Given the description of an element on the screen output the (x, y) to click on. 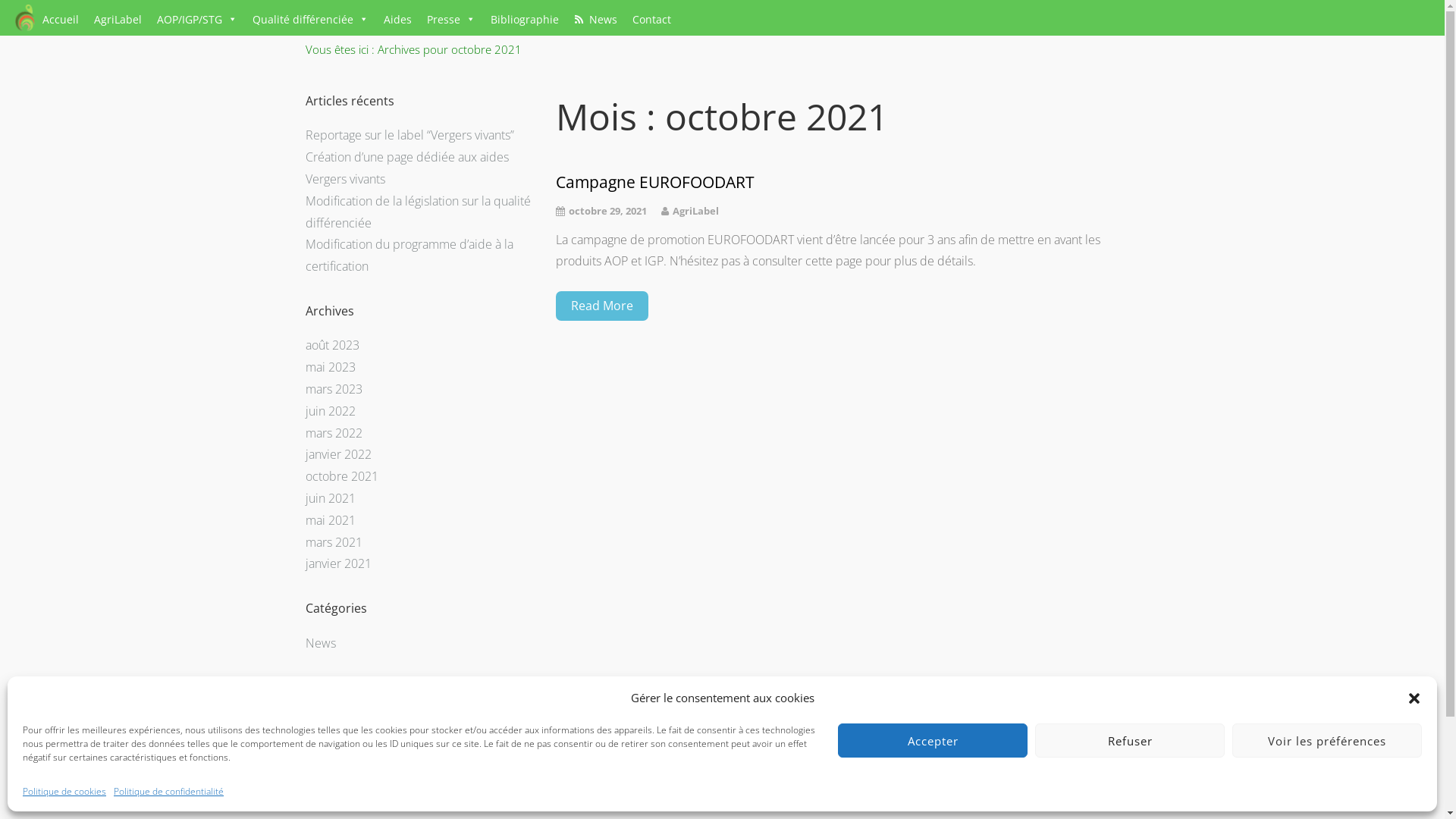
octobre 2021 Element type: text (340, 475)
mai 2023 Element type: text (329, 366)
Read More Element type: text (601, 305)
juin 2021 Element type: text (329, 497)
janvier 2021 Element type: text (337, 563)
Campagne EUROFOODART Element type: text (847, 181)
mars 2022 Element type: text (332, 432)
Refuser Element type: text (1129, 740)
Vergers vivants Element type: text (344, 178)
mai 2021 Element type: text (329, 519)
Politique de cookies Element type: text (64, 791)
News Element type: text (319, 642)
mars 2023 Element type: text (332, 388)
Accepter Element type: text (932, 740)
janvier 2022 Element type: text (337, 453)
mars 2021 Element type: text (332, 541)
juin 2022 Element type: text (329, 410)
